Given the description of an element on the screen output the (x, y) to click on. 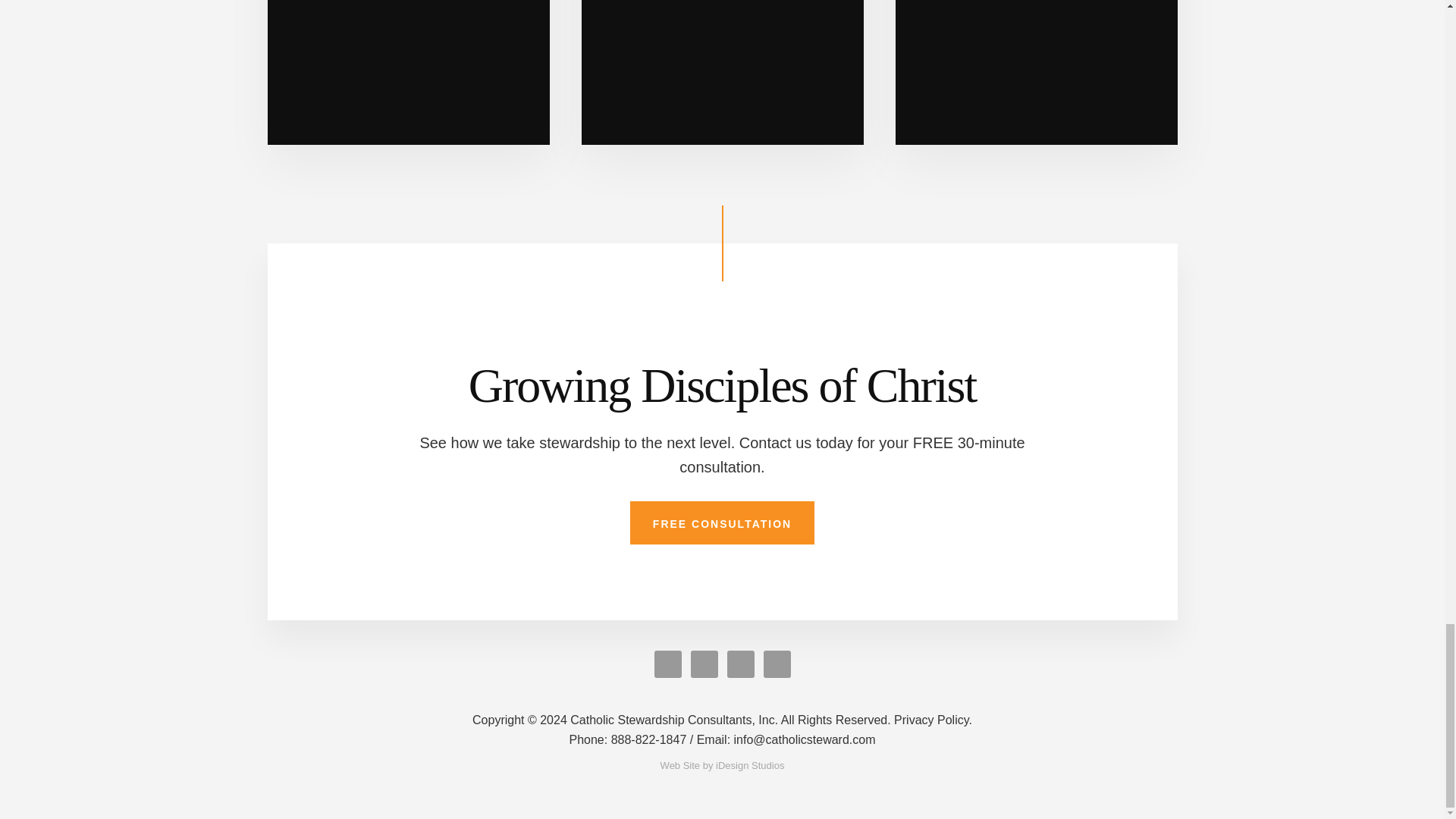
About Us (407, 72)
Privacy Policy (932, 719)
Email (786, 739)
Stewardship Services (721, 72)
Catholic Stewardship Consultants, Inc. (681, 719)
FAQ (1035, 72)
FREE CONSULTATION (721, 523)
